Given the description of an element on the screen output the (x, y) to click on. 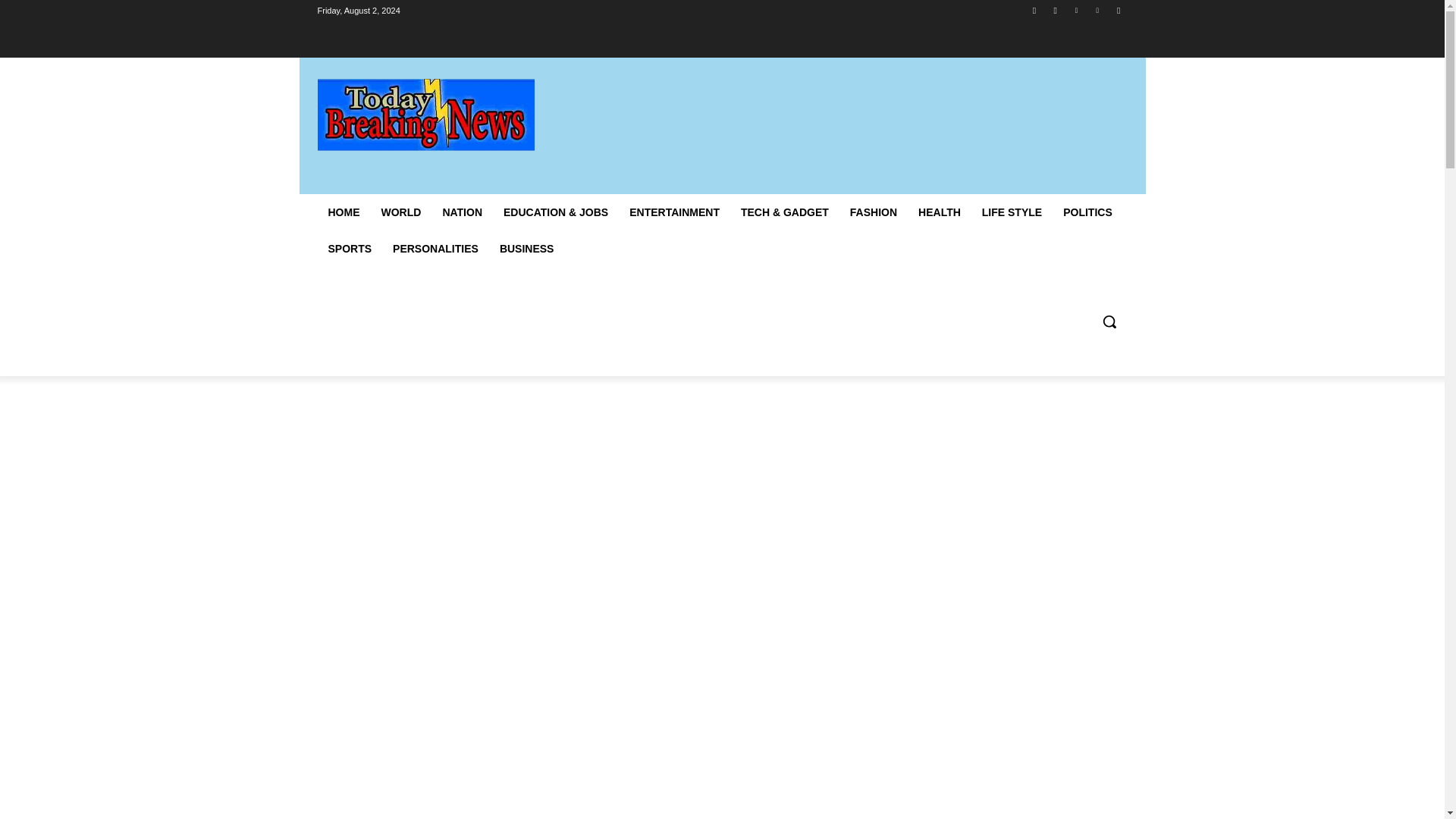
Vimeo (1097, 9)
Instagram (1055, 9)
Youtube (1117, 9)
Twitter (1075, 9)
HOME (343, 212)
Facebook (1034, 9)
